Given the description of an element on the screen output the (x, y) to click on. 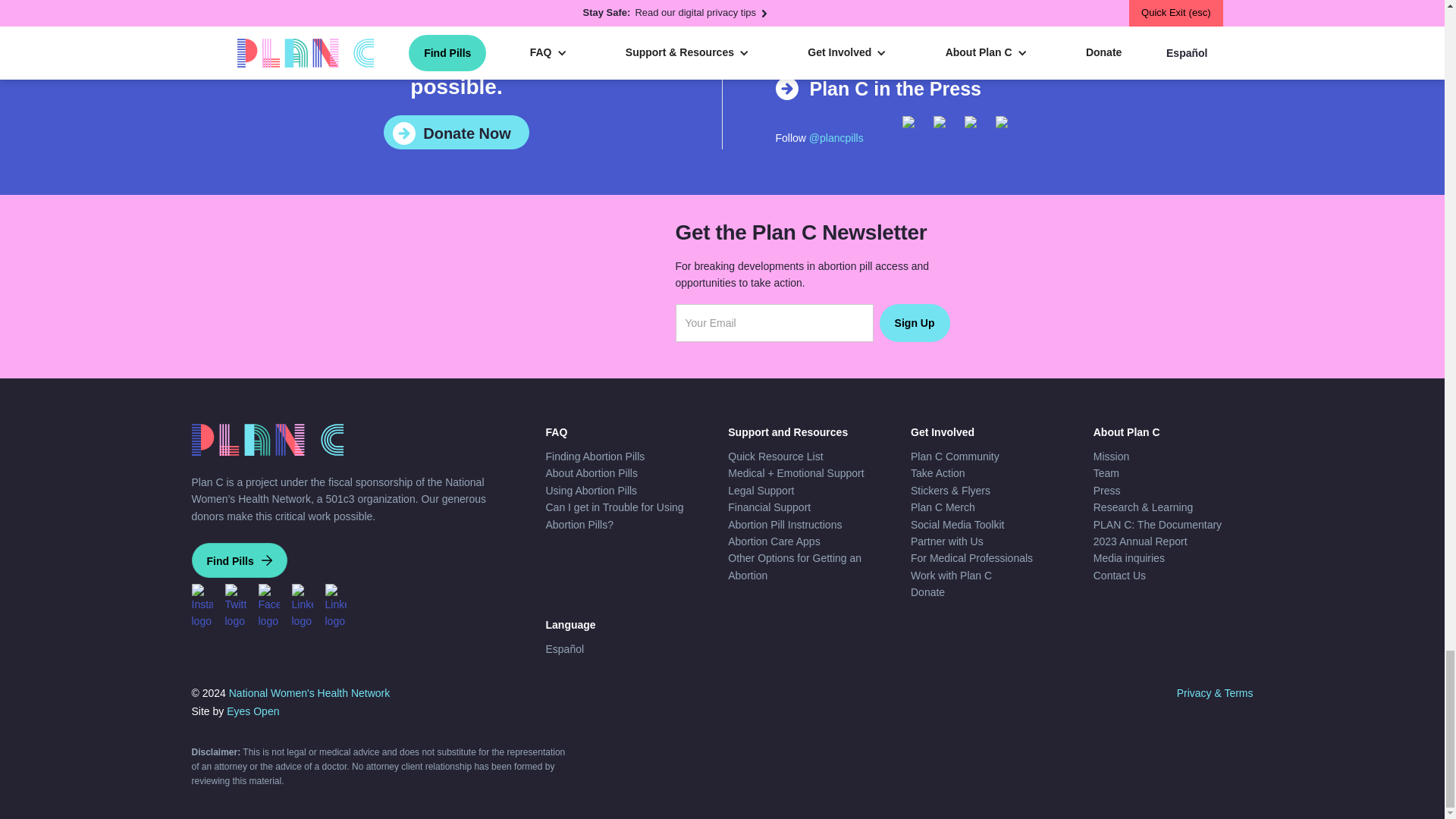
Sign Up (914, 322)
Plan C logo (266, 439)
